Given the description of an element on the screen output the (x, y) to click on. 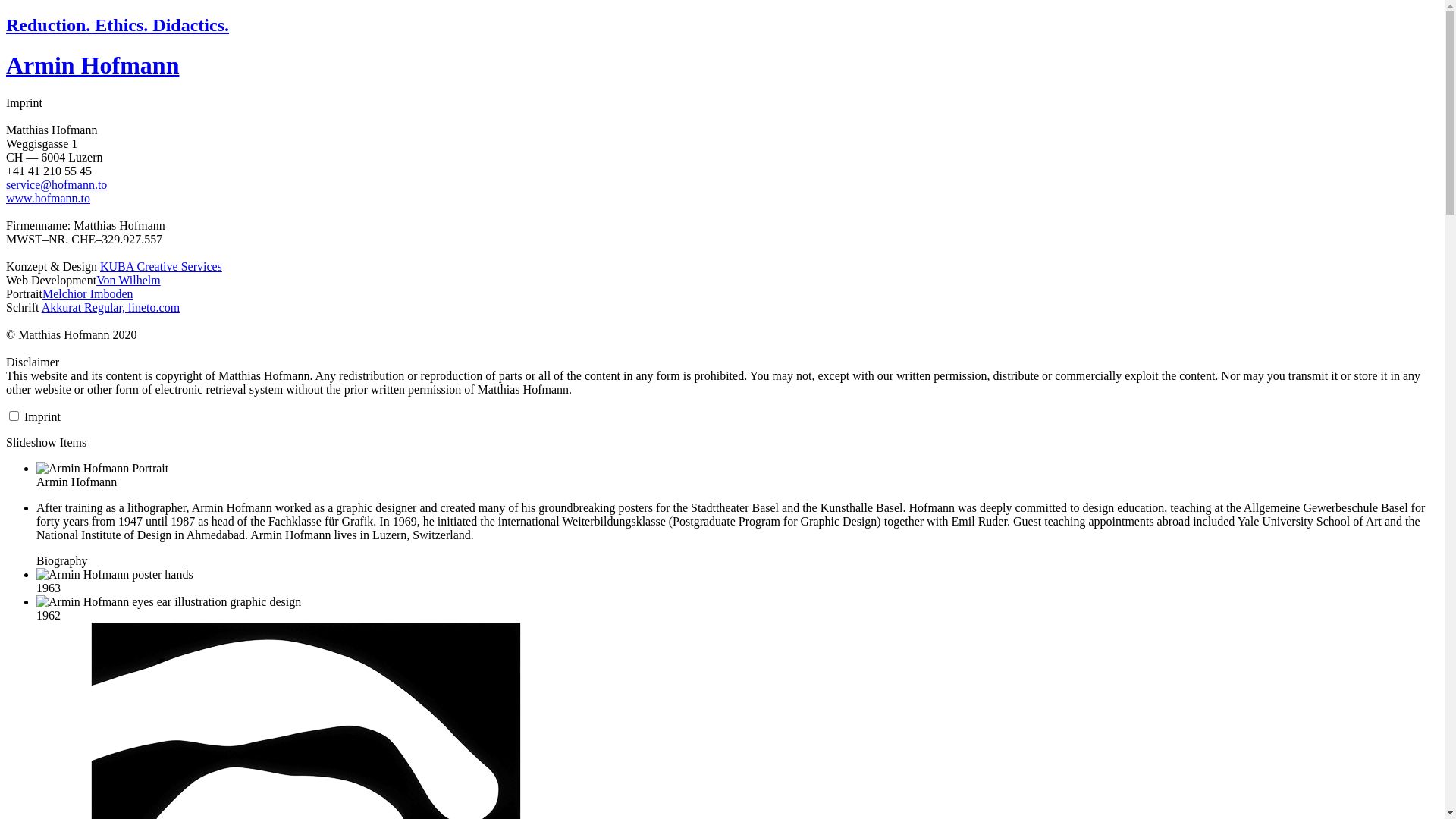
Von Wilhelm Element type: text (128, 279)
service@hofmann.to Element type: text (56, 184)
Melchior Imboden Element type: text (87, 293)
Akkurat Regular, lineto.com Element type: text (110, 307)
KUBA Creative Services Element type: text (161, 266)
Armin Hofmann Element type: text (92, 64)
Reduction. Ethics. Didactics. Element type: text (117, 24)
www.hofmann.to Element type: text (48, 197)
